Given the description of an element on the screen output the (x, y) to click on. 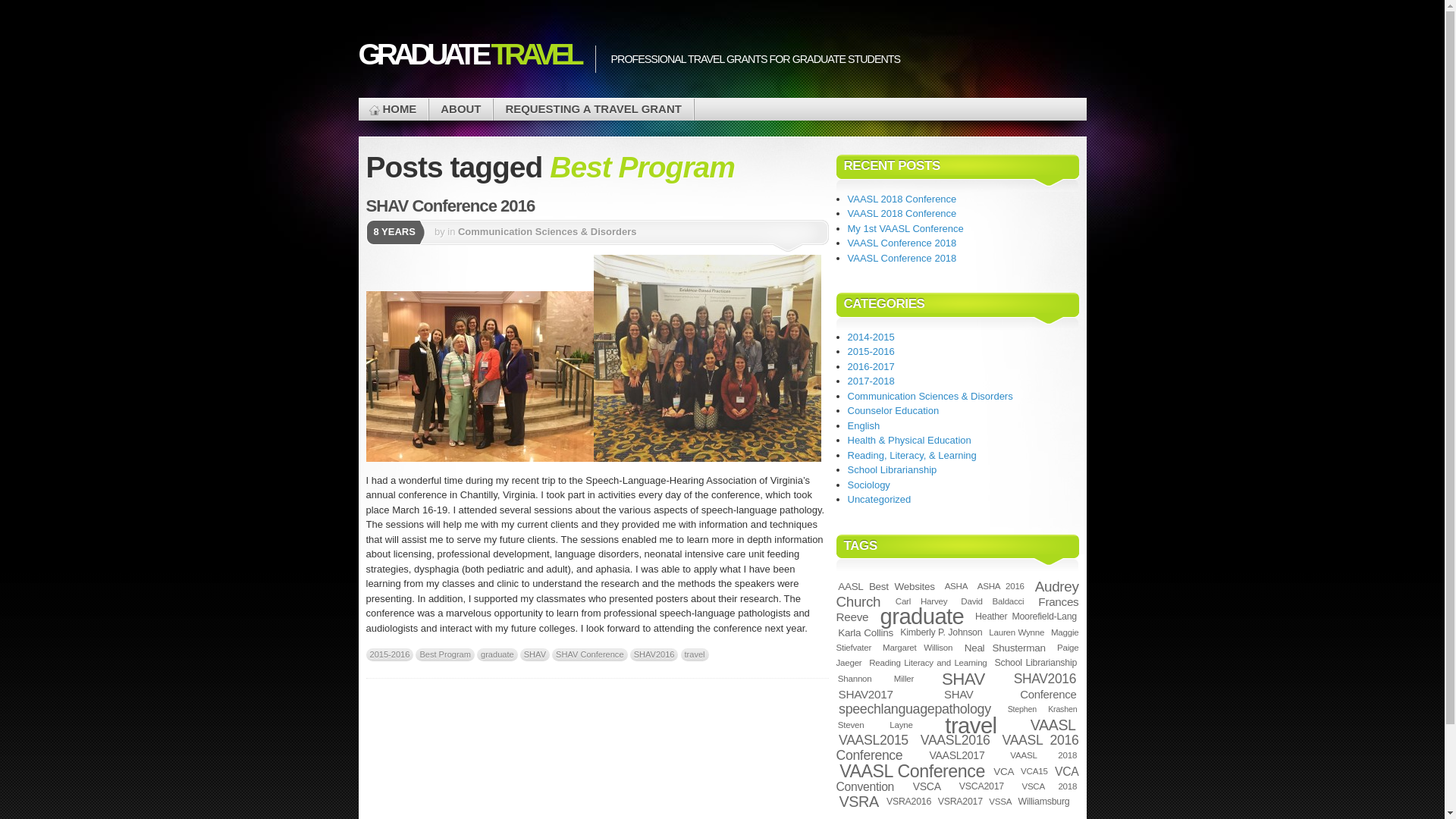
ASHA (955, 585)
English (863, 425)
SHAV2016 (654, 654)
David Baldacci (992, 601)
ABOUT (460, 109)
Frances Reeve (956, 609)
GRADUATE TRAVEL (468, 54)
graduate (497, 654)
School Librarianship (892, 469)
2015-2016 (871, 351)
